Given the description of an element on the screen output the (x, y) to click on. 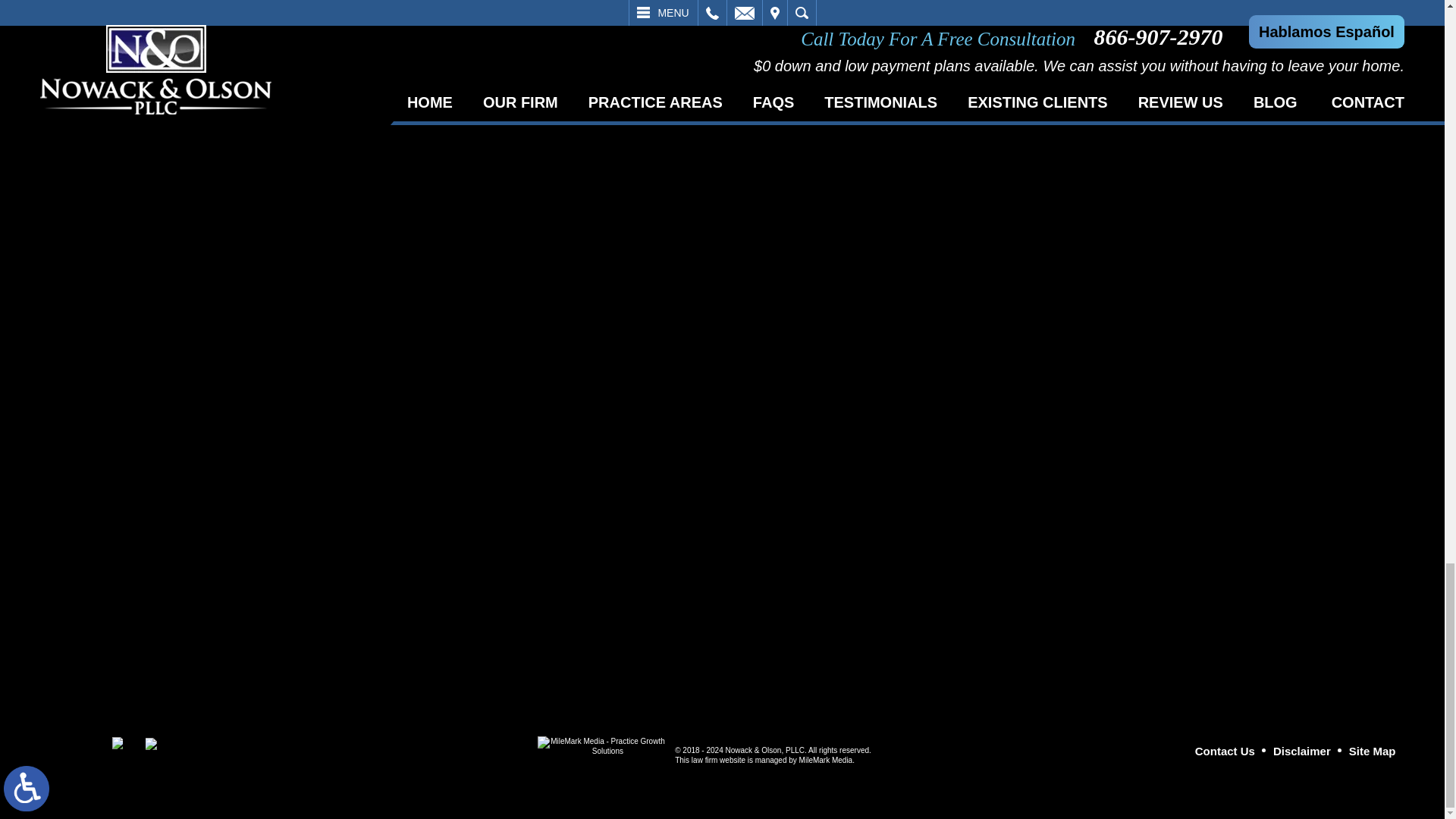
Twitter (149, 743)
Facebook (117, 743)
MileMark Media - Practice Growth Solutions (601, 749)
